Given the description of an element on the screen output the (x, y) to click on. 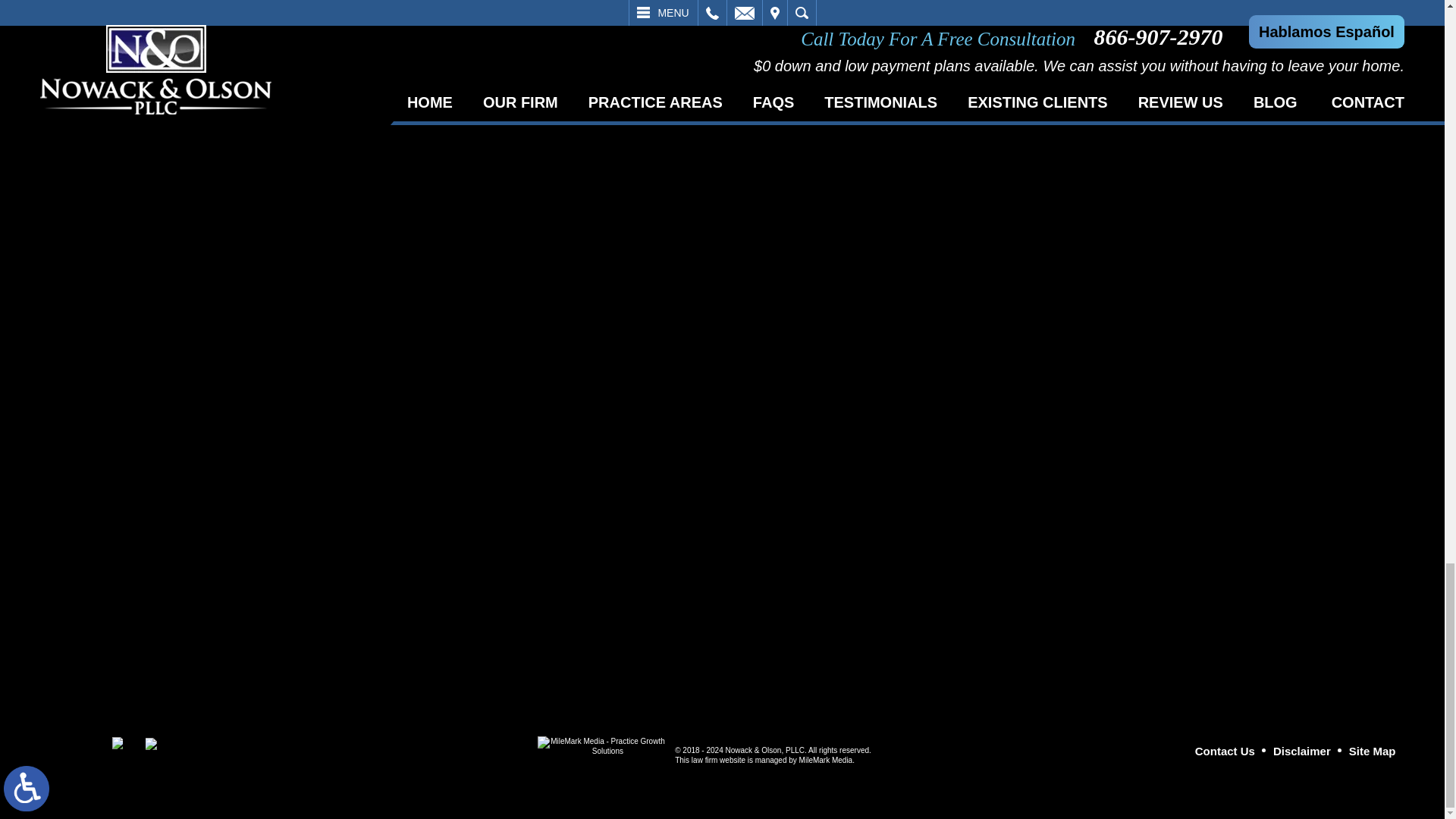
Twitter (149, 743)
Facebook (117, 743)
MileMark Media - Practice Growth Solutions (601, 749)
